Given the description of an element on the screen output the (x, y) to click on. 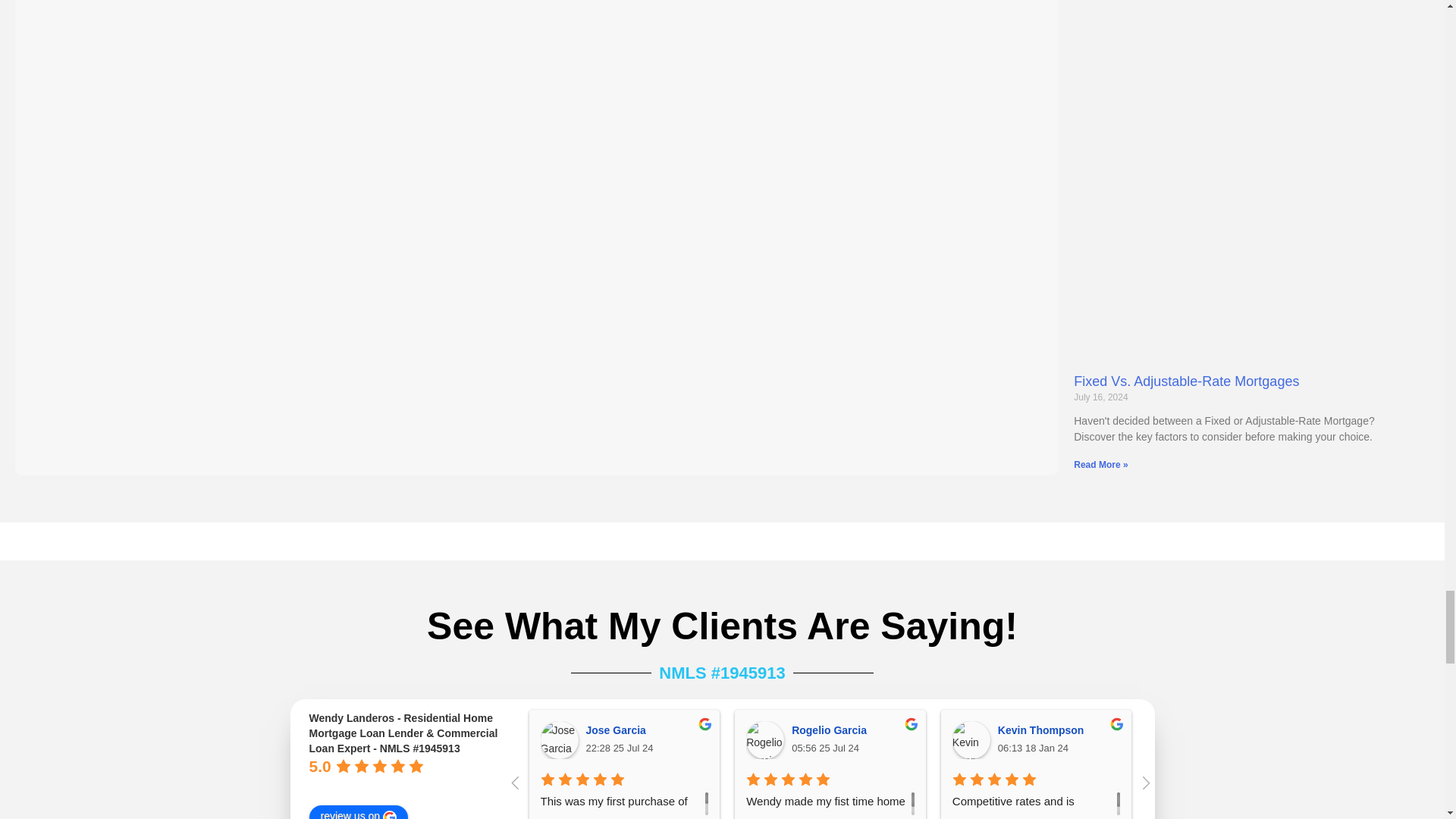
Jose Garcia (559, 740)
powered by Google (363, 785)
Luis Irizarry (1176, 740)
Boris Kogan (1383, 740)
Rogelio Garcia (764, 740)
Kevin Thompson (971, 740)
